Given the description of an element on the screen output the (x, y) to click on. 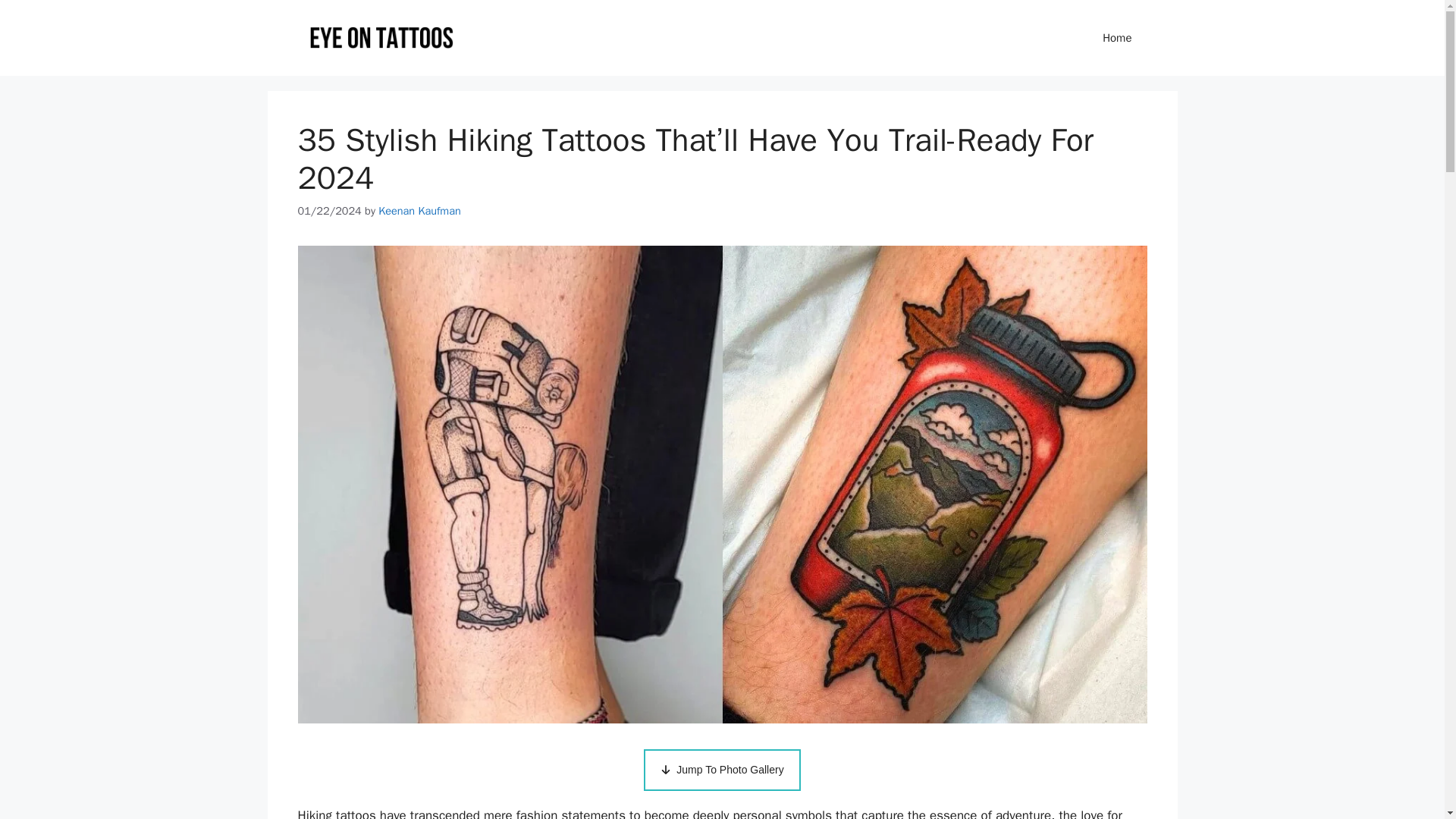
Keenan Kaufman (419, 210)
View all posts by Keenan Kaufman (419, 210)
Jump To Photo Gallery (721, 770)
Home (1117, 37)
